Given the description of an element on the screen output the (x, y) to click on. 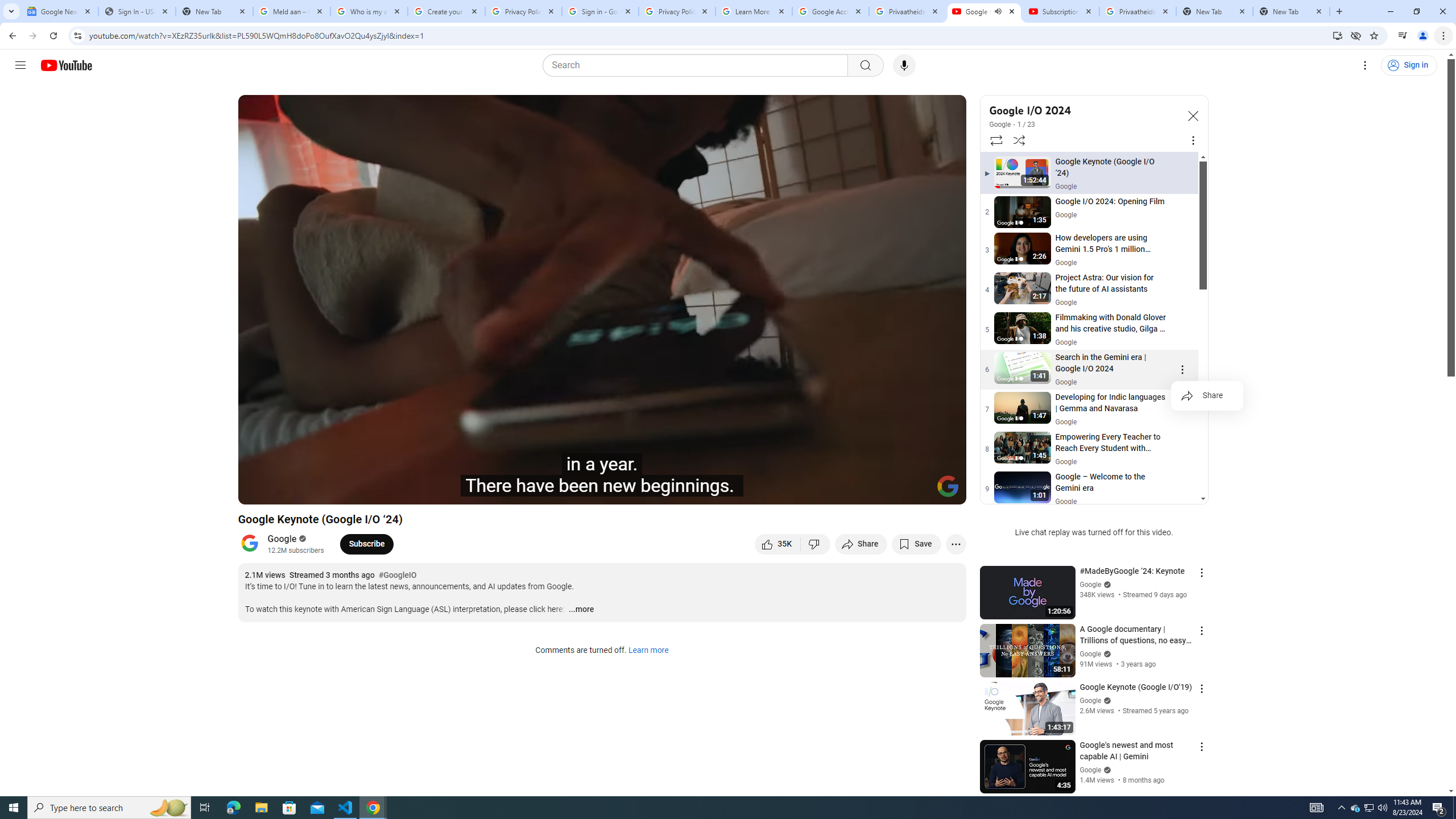
Share (861, 543)
Channel watermark (947, 486)
Action menu (1200, 746)
Google News (59, 11)
Seek slider (601, 476)
Guide (20, 65)
Mute (m) (338, 490)
More actions (955, 543)
Share (1206, 395)
